Given the description of an element on the screen output the (x, y) to click on. 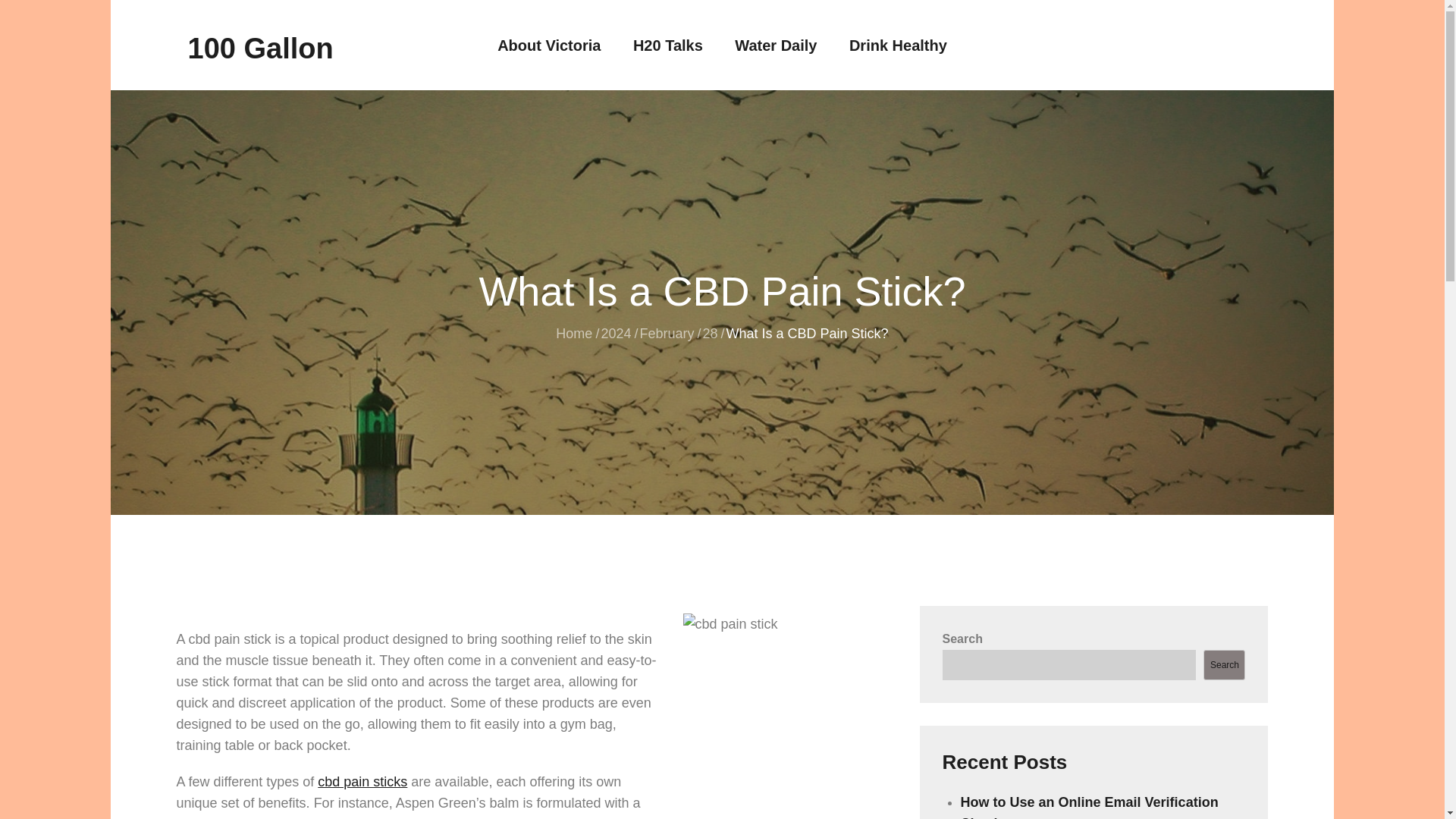
Home (574, 333)
Drink Healthy (897, 45)
28 (709, 333)
Search (1224, 665)
100 Gallon (260, 48)
February (666, 333)
Water Daily (775, 45)
About Victoria (548, 45)
H20 Talks (667, 45)
cbd pain sticks (362, 781)
